Given the description of an element on the screen output the (x, y) to click on. 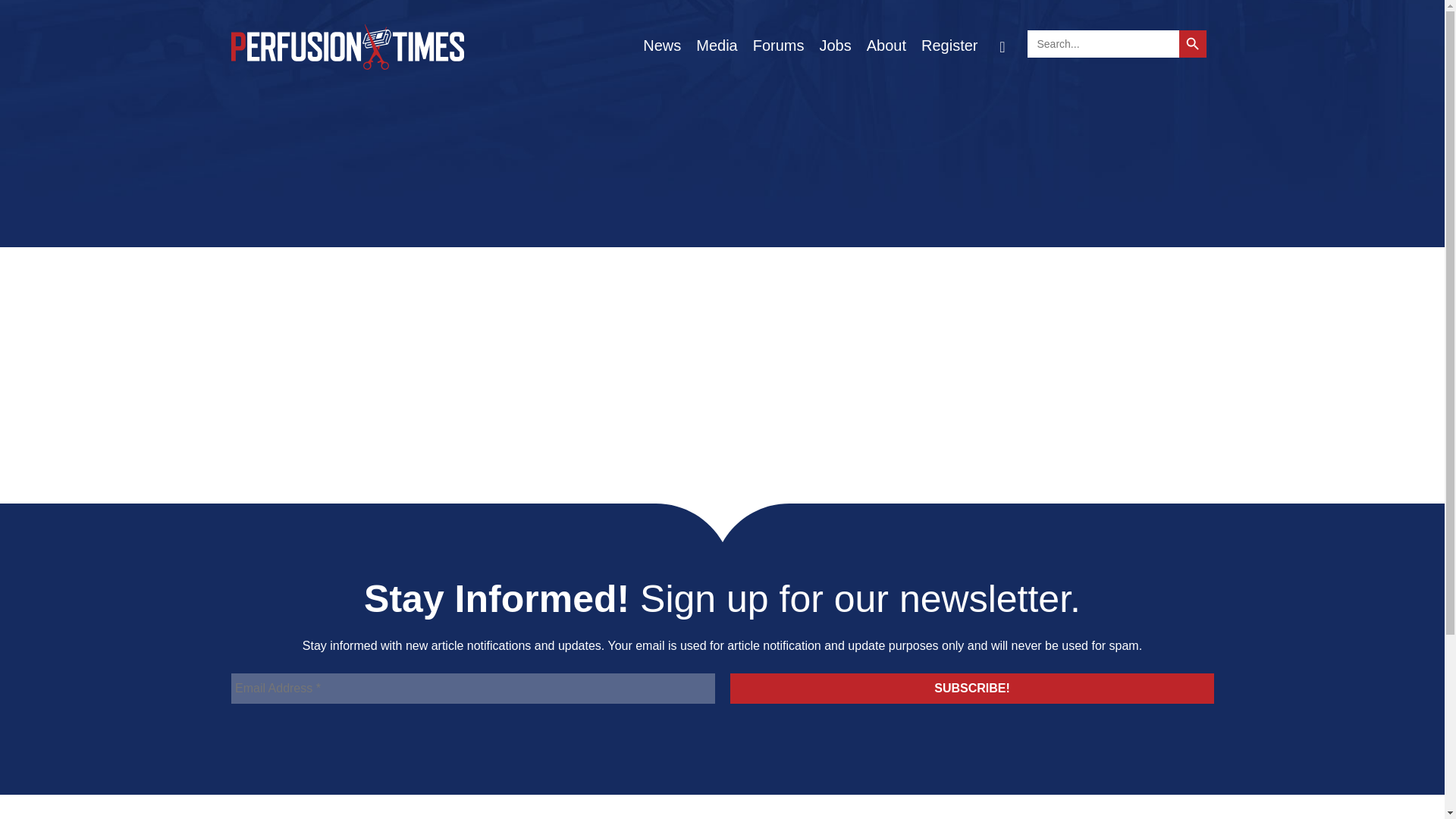
Forums (778, 44)
Subscribe! (970, 688)
Subscribe! (970, 688)
News (661, 44)
Email Address (472, 688)
Jobs (834, 44)
Media (716, 44)
About (886, 44)
Register (949, 44)
Search Button (1115, 44)
